Given the description of an element on the screen output the (x, y) to click on. 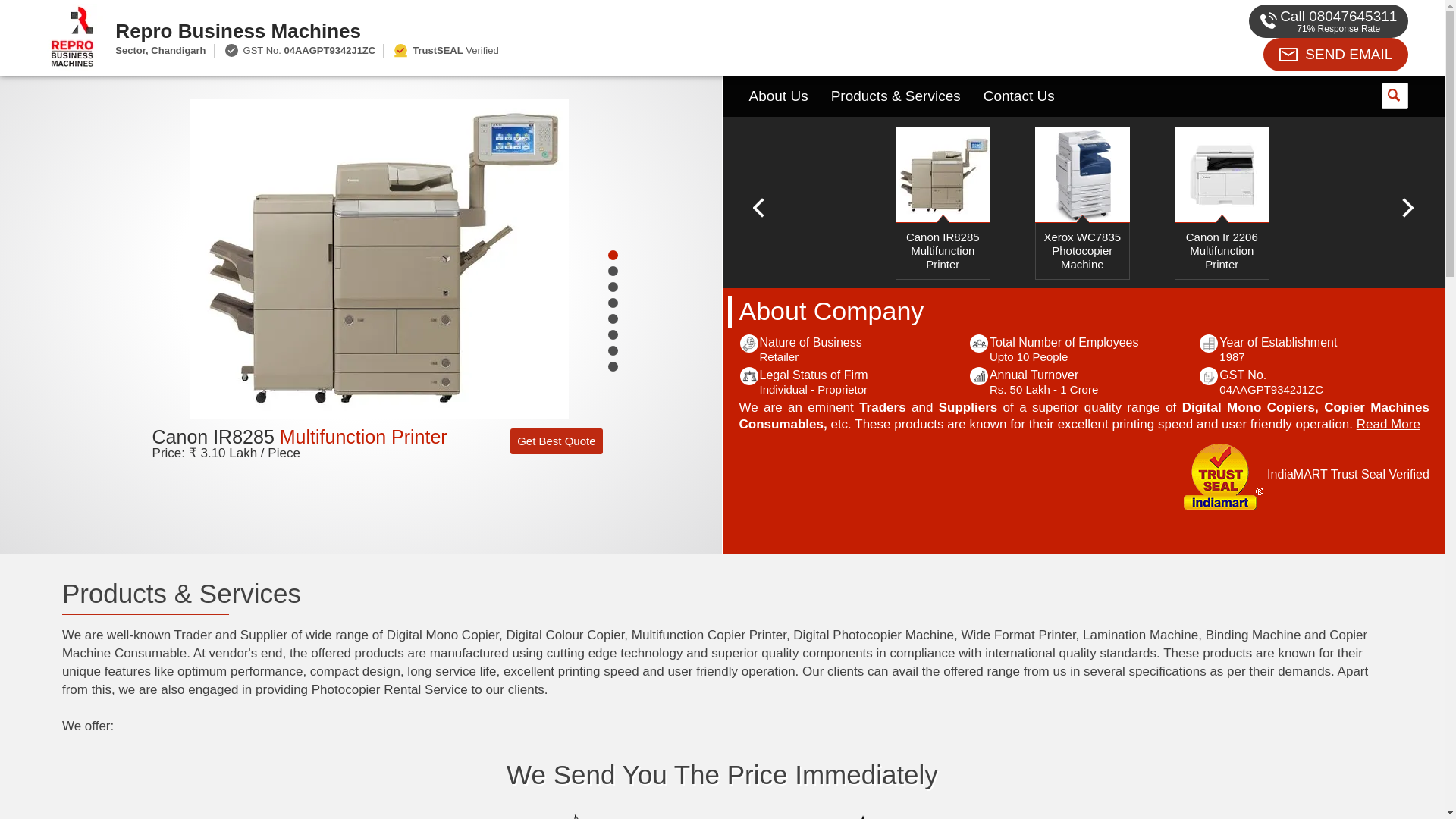
Repro Business Machines (552, 31)
About Us (777, 96)
Canon IR8285 Multifunction Printer (299, 436)
